Given the description of an element on the screen output the (x, y) to click on. 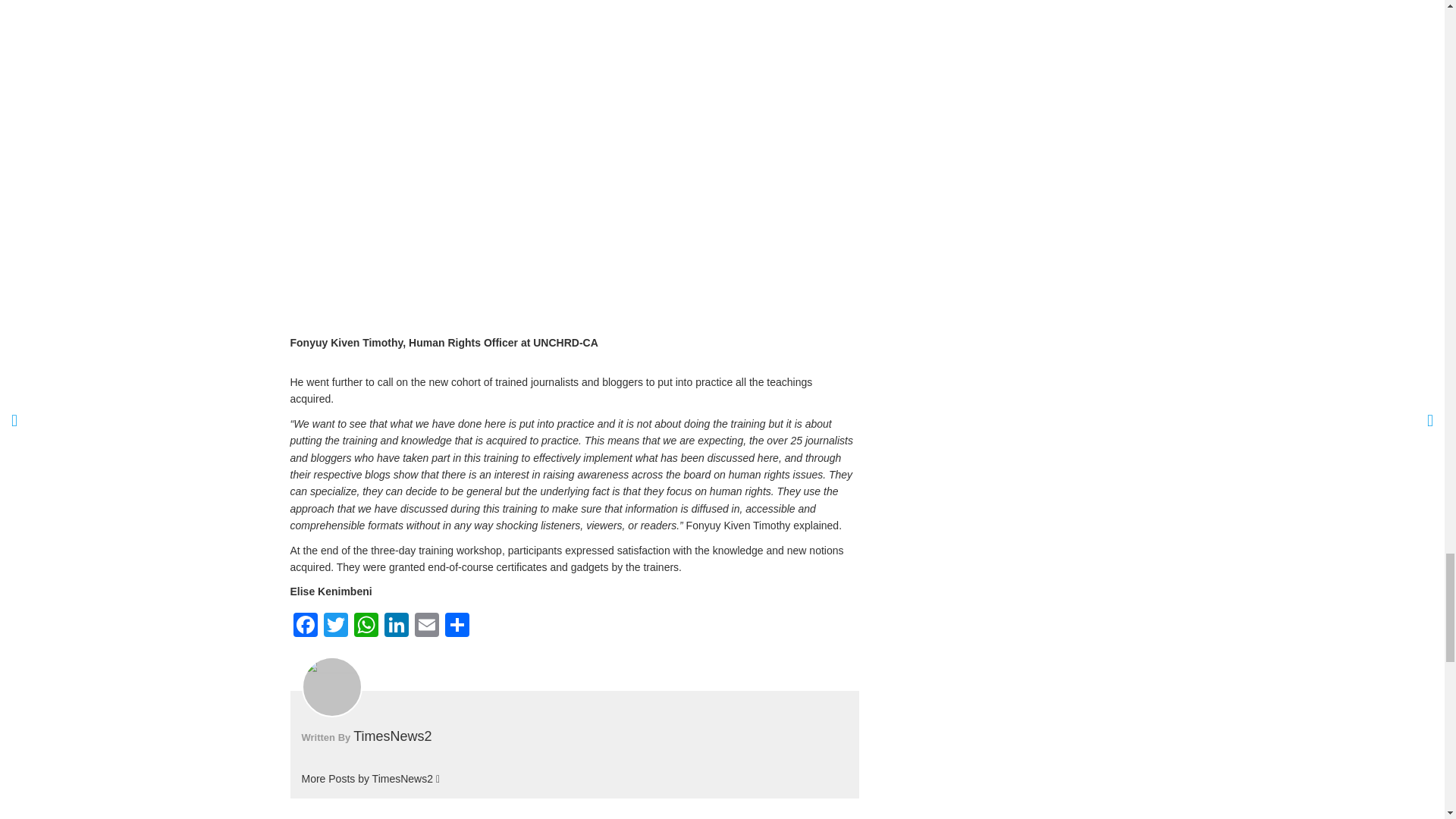
LinkedIn (395, 626)
Facebook (304, 626)
WhatsApp (365, 626)
Email (425, 626)
Twitter (335, 626)
Email (425, 626)
WhatsApp (365, 626)
Facebook (304, 626)
Twitter (335, 626)
LinkedIn (395, 626)
